Given the description of an element on the screen output the (x, y) to click on. 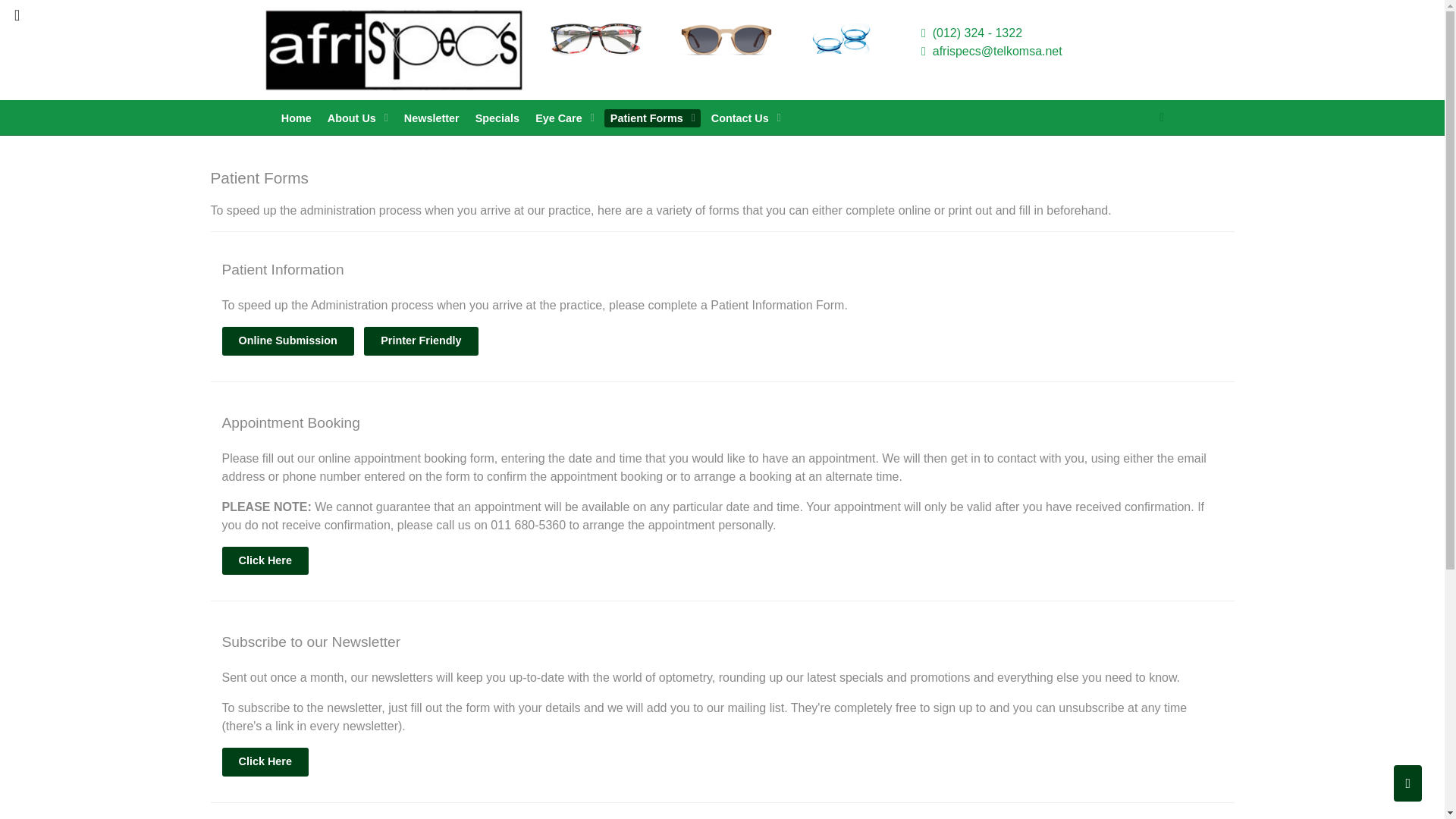
Patient Information Form (287, 340)
Online Submission (287, 340)
Newsletter (430, 117)
Patient Information Form - Printer Friendly (420, 340)
Printer Friendly (420, 340)
 Spectacles (596, 38)
Afrispecs (393, 48)
Click Here (264, 561)
Newsletter Subscription (264, 761)
Specials (496, 117)
